Given the description of an element on the screen output the (x, y) to click on. 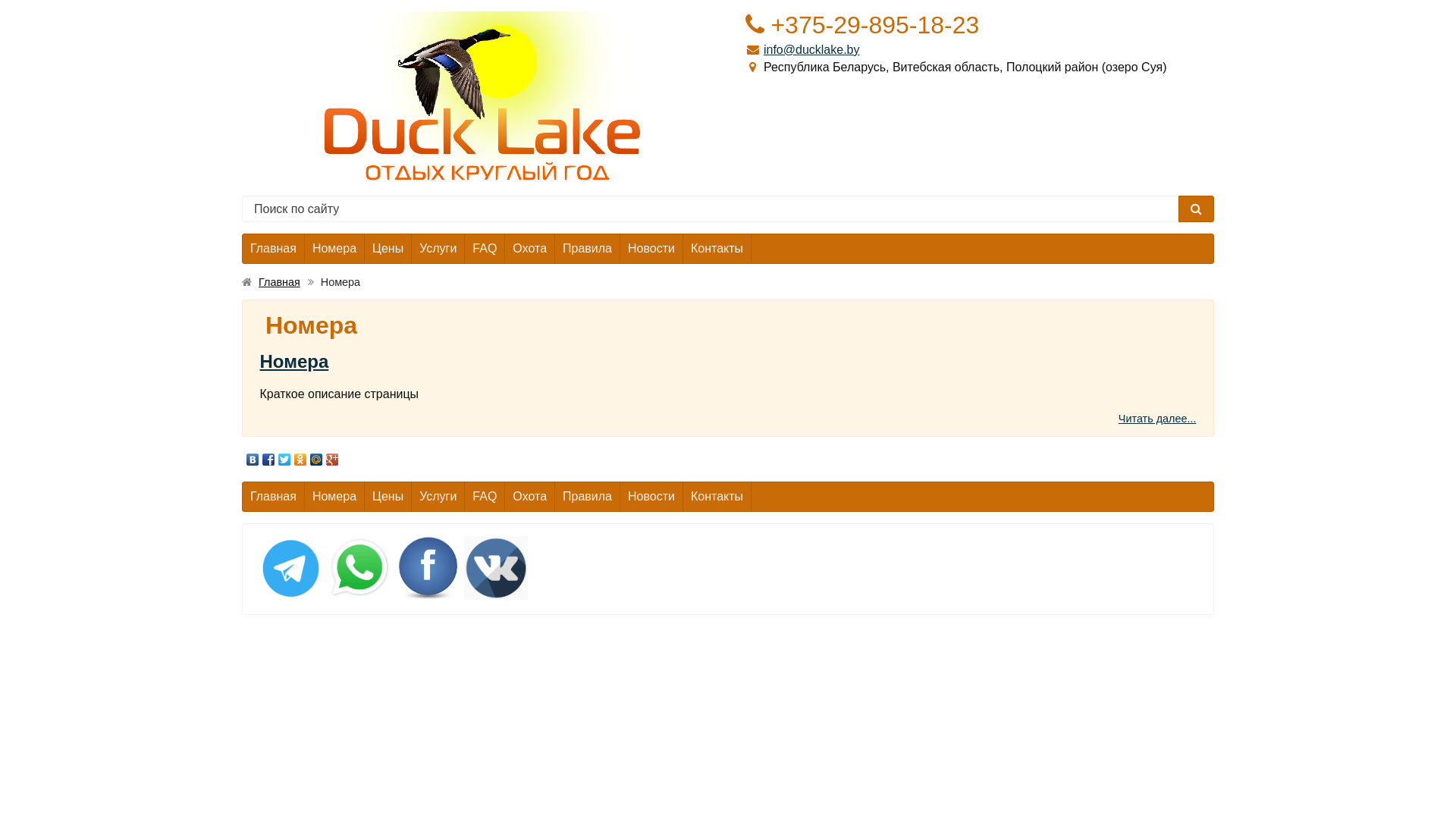
FAQ Element type: text (484, 496)
FAQ Element type: text (484, 248)
Google Plus Element type: hover (332, 459)
Twitter Element type: hover (284, 459)
Facebook Element type: hover (268, 459)
info@ducklake.by Element type: text (811, 49)
